Given the description of an element on the screen output the (x, y) to click on. 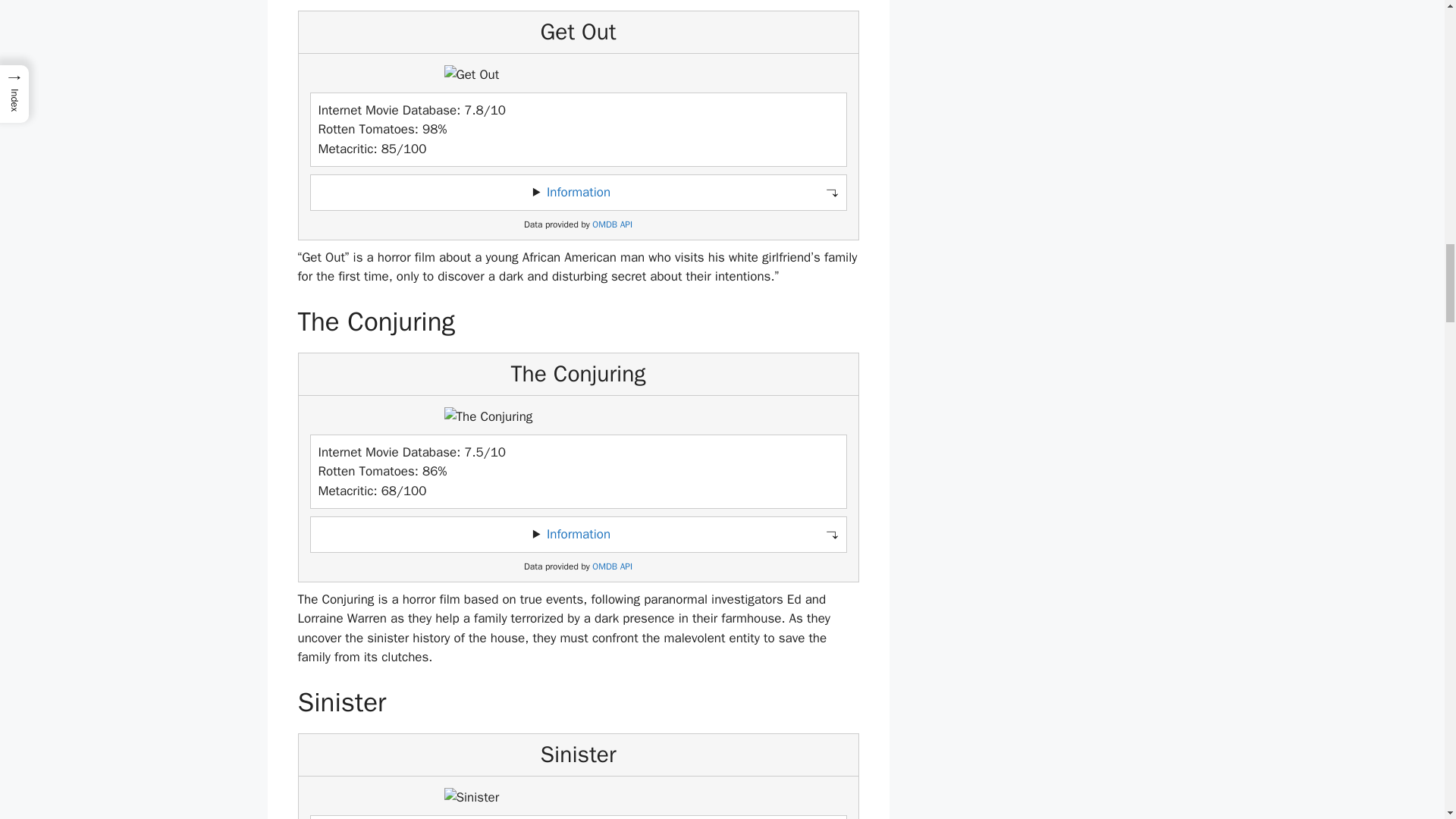
OMDB API (611, 224)
Information (578, 191)
OMDB API (611, 566)
Information (578, 534)
Toggle information (578, 192)
Open Movie Database API (611, 224)
